Given the description of an element on the screen output the (x, y) to click on. 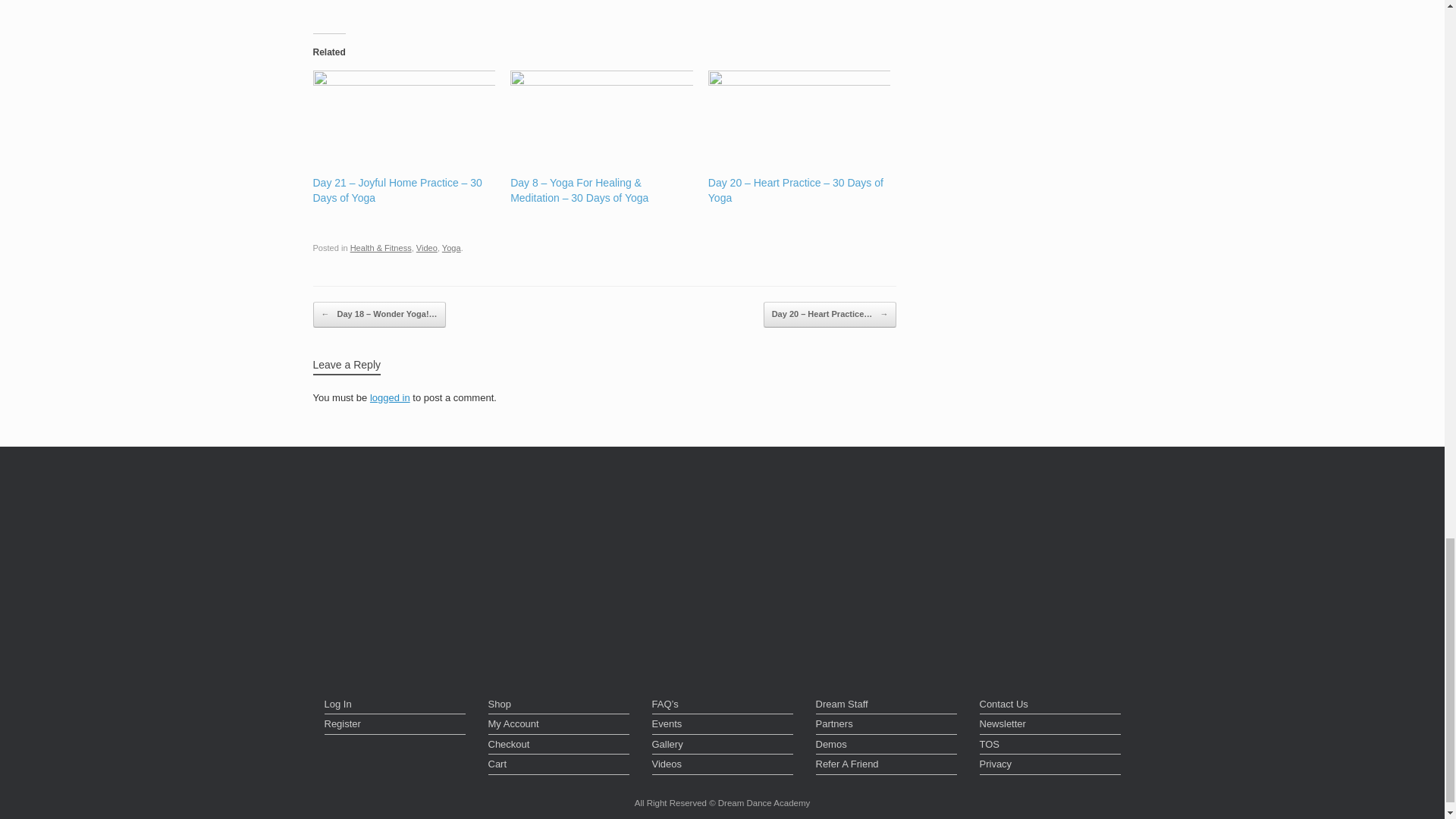
Video (427, 247)
Yoga (451, 247)
